Given the description of an element on the screen output the (x, y) to click on. 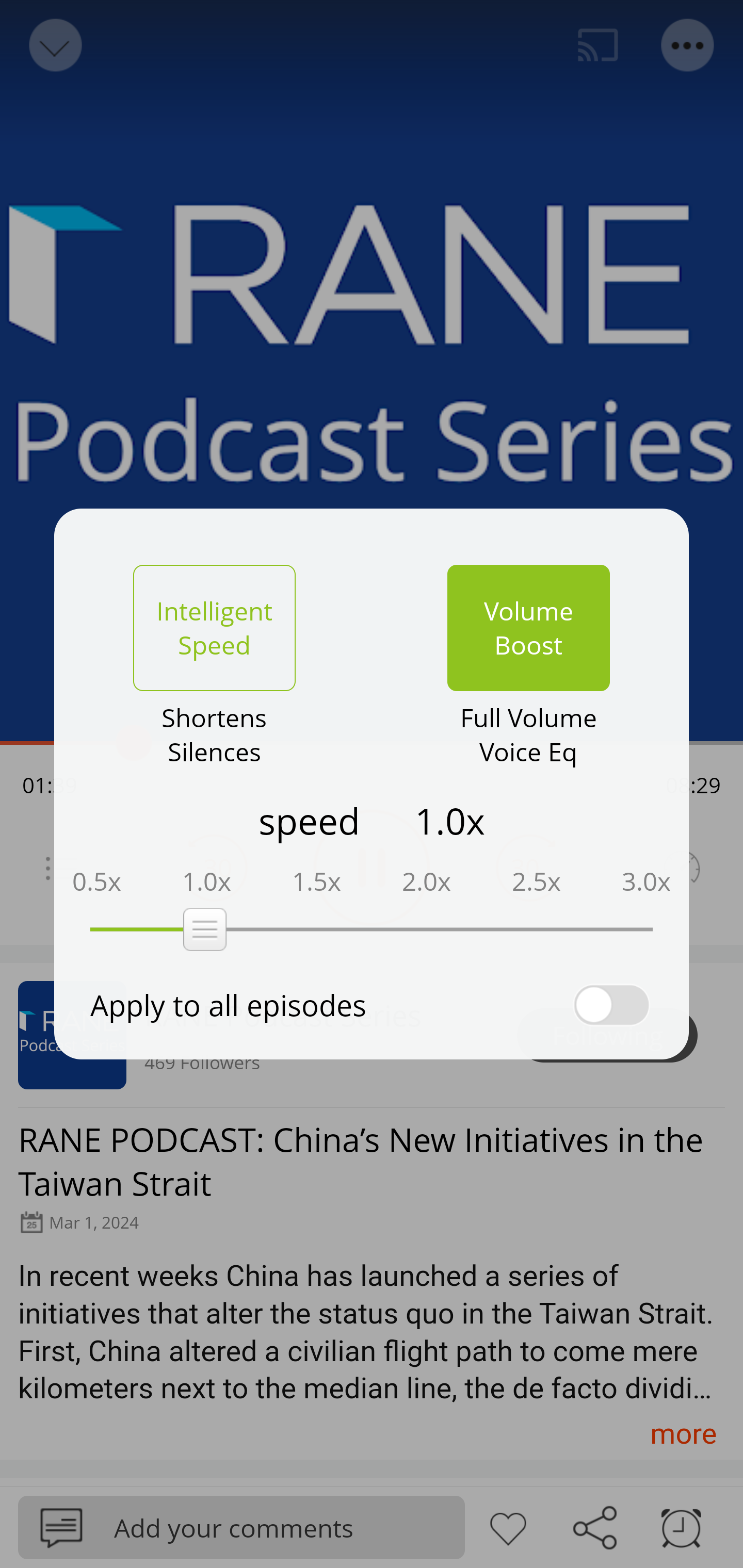
Intelligent
Speed (213, 627)
Volume
Boost (528, 627)
